Given the description of an element on the screen output the (x, y) to click on. 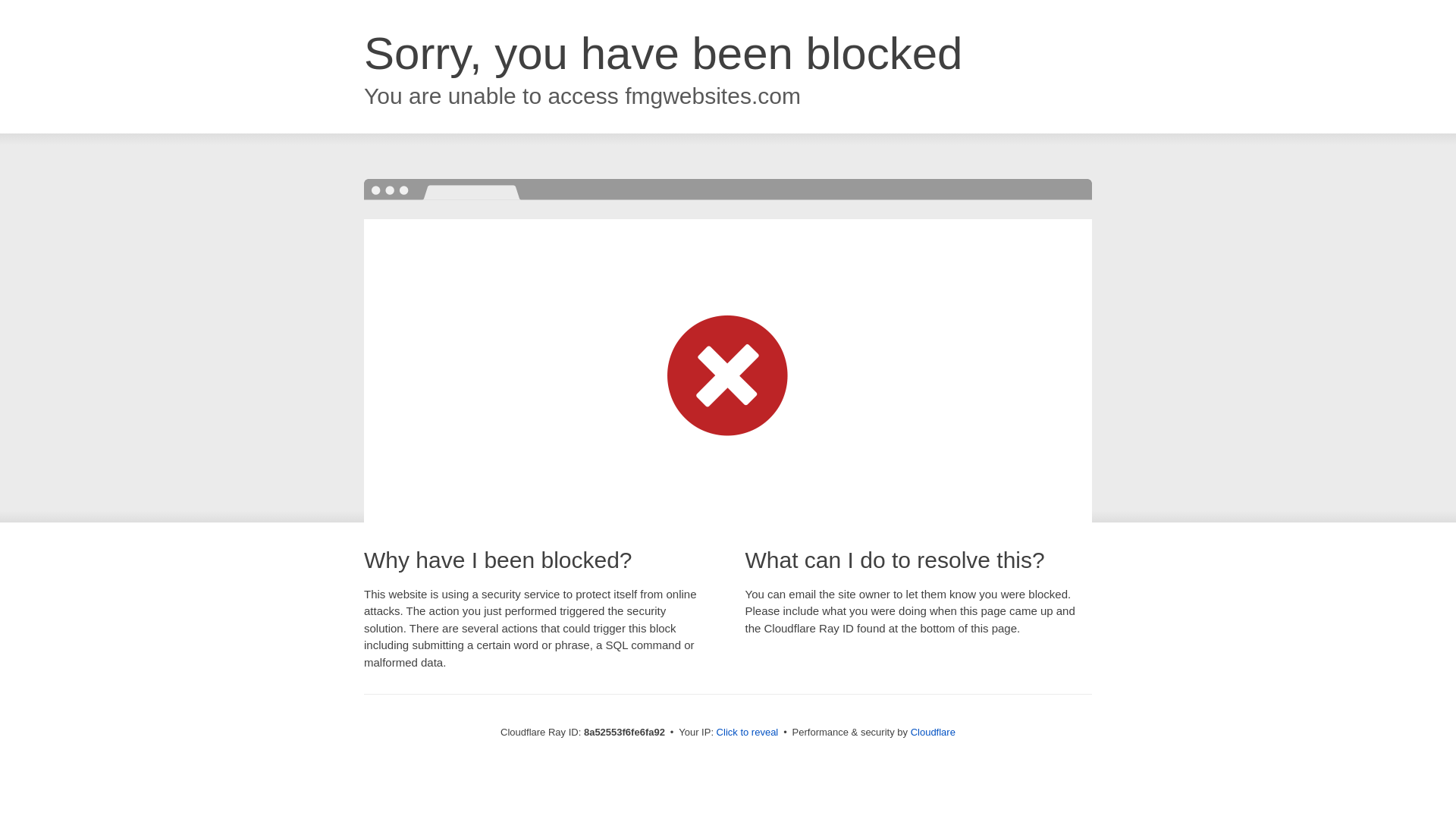
Click to reveal (747, 732)
Cloudflare (933, 731)
